Given the description of an element on the screen output the (x, y) to click on. 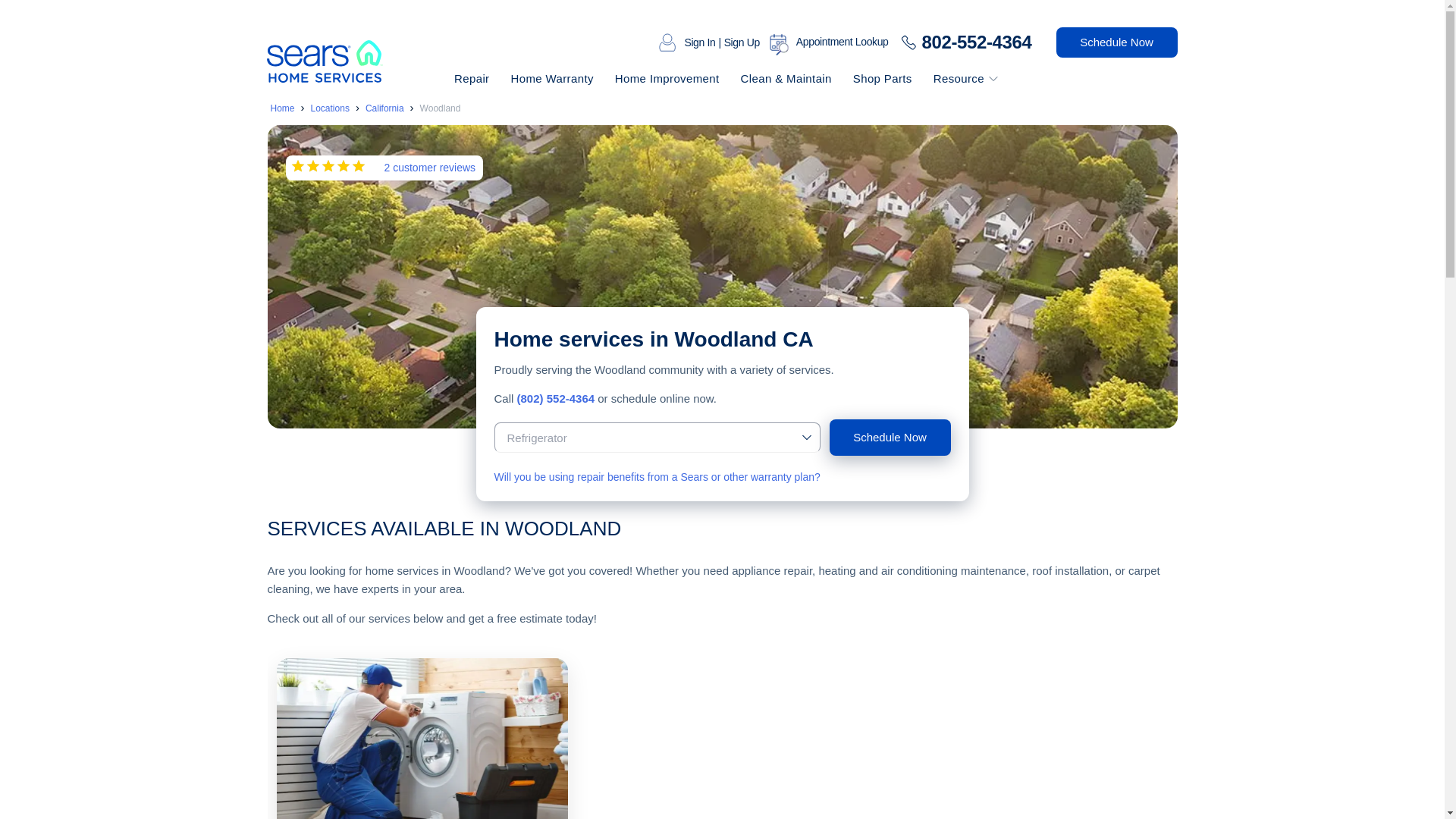
Schedule Now (1115, 42)
Appointment Lookup (842, 41)
Home (281, 108)
Resource (954, 78)
California (384, 108)
Woodland (440, 108)
Shop Parts (884, 78)
Repair (472, 78)
Locations (330, 108)
Schedule Now (889, 437)
802-552-4364 (972, 42)
5 out of 5 (327, 168)
Home Warranty (552, 78)
Home Improvement (668, 78)
